Given the description of an element on the screen output the (x, y) to click on. 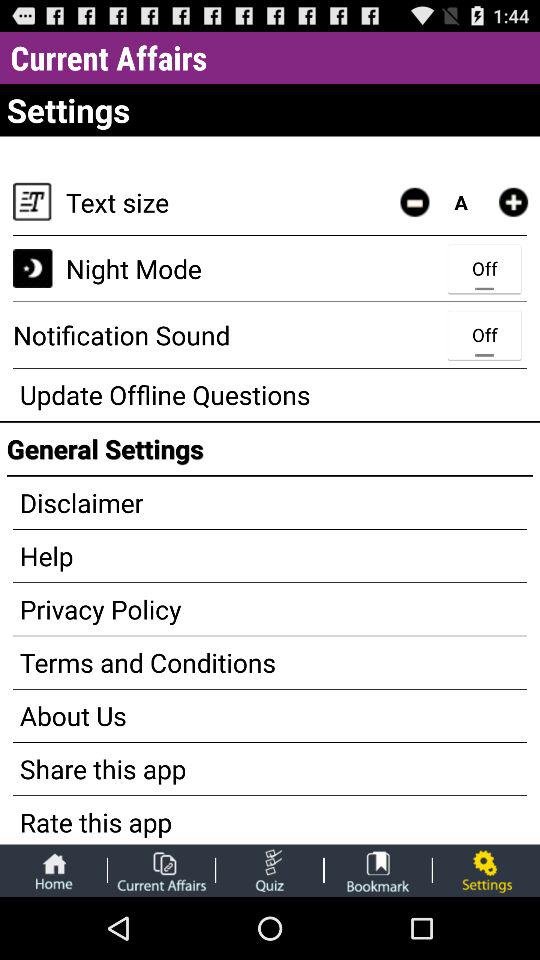
turn on the privacy policy icon (270, 609)
